Given the description of an element on the screen output the (x, y) to click on. 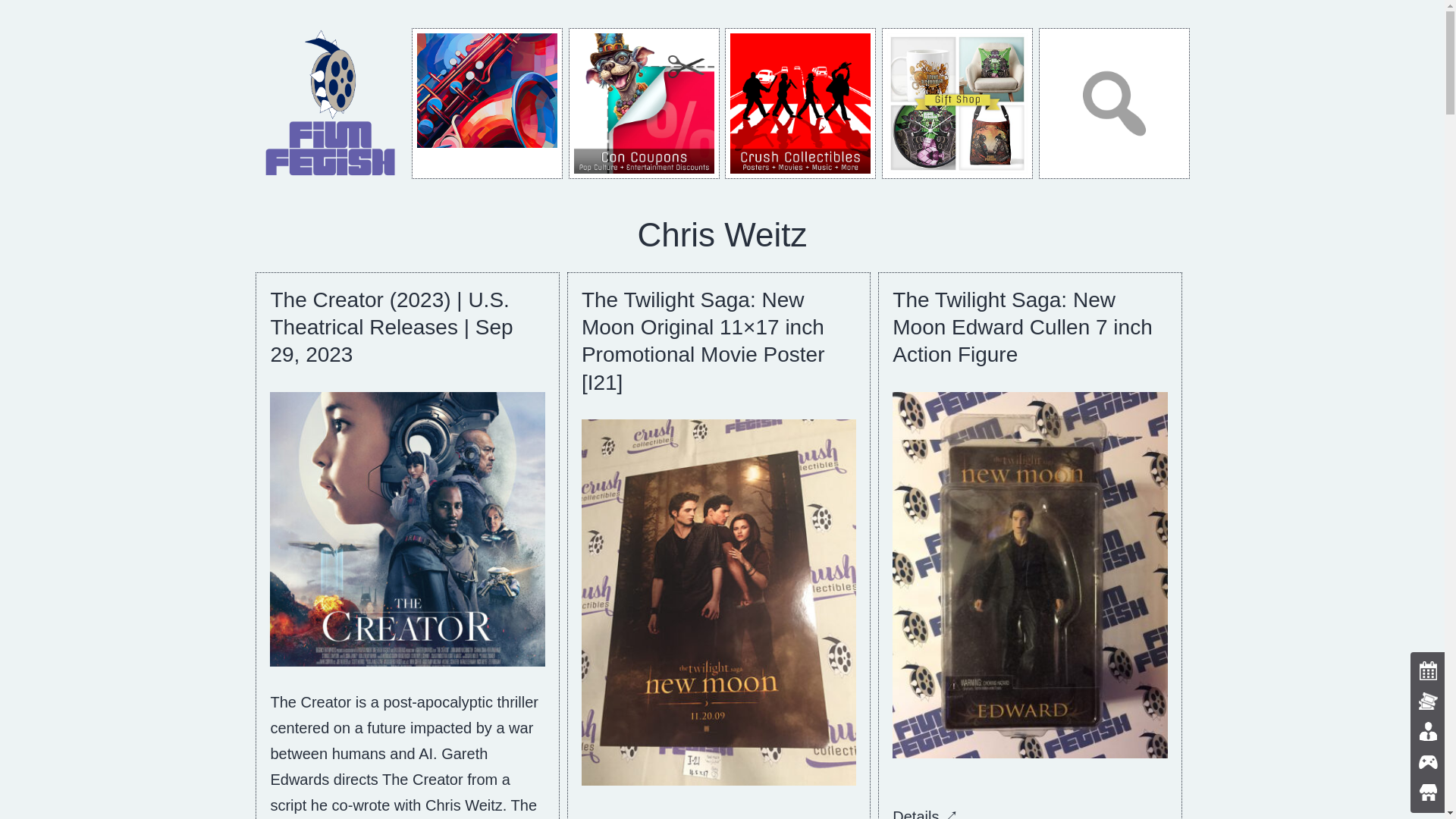
Film Fetish Official Shop (957, 103)
Home (330, 102)
Search (1114, 103)
Film Fetish Home (330, 103)
Con Coupons (644, 103)
Crush Collectibles (800, 103)
Fan Calendar (487, 103)
